Given the description of an element on the screen output the (x, y) to click on. 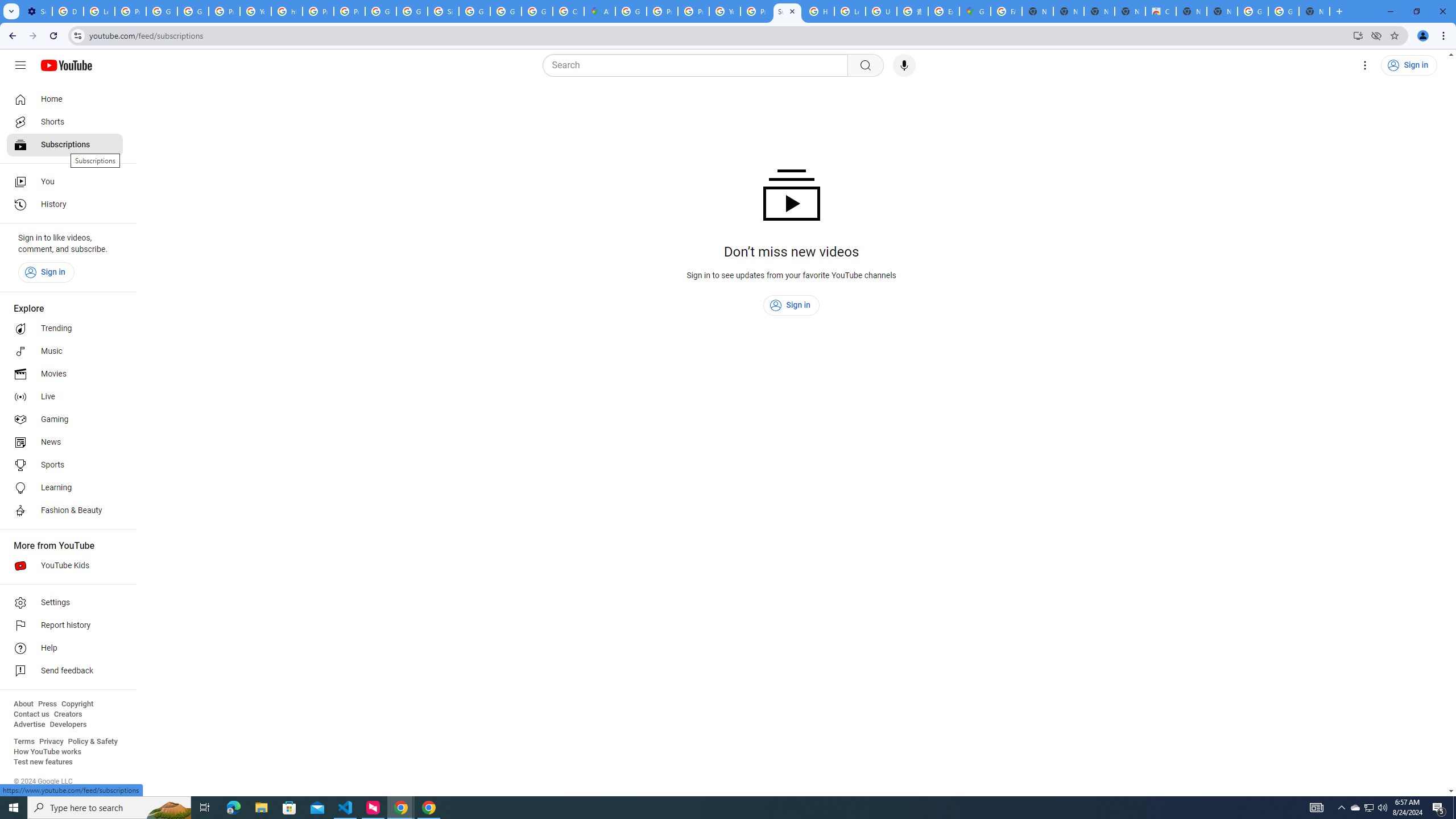
Creators (67, 714)
News (64, 441)
History (64, 204)
Chrome Web Store (1160, 11)
Report history (64, 625)
Fashion & Beauty (64, 510)
Home (64, 99)
Privacy Help Center - Policies Help (662, 11)
Google Maps (974, 11)
Create your Google Account (568, 11)
Subscriptions (64, 144)
